Given the description of an element on the screen output the (x, y) to click on. 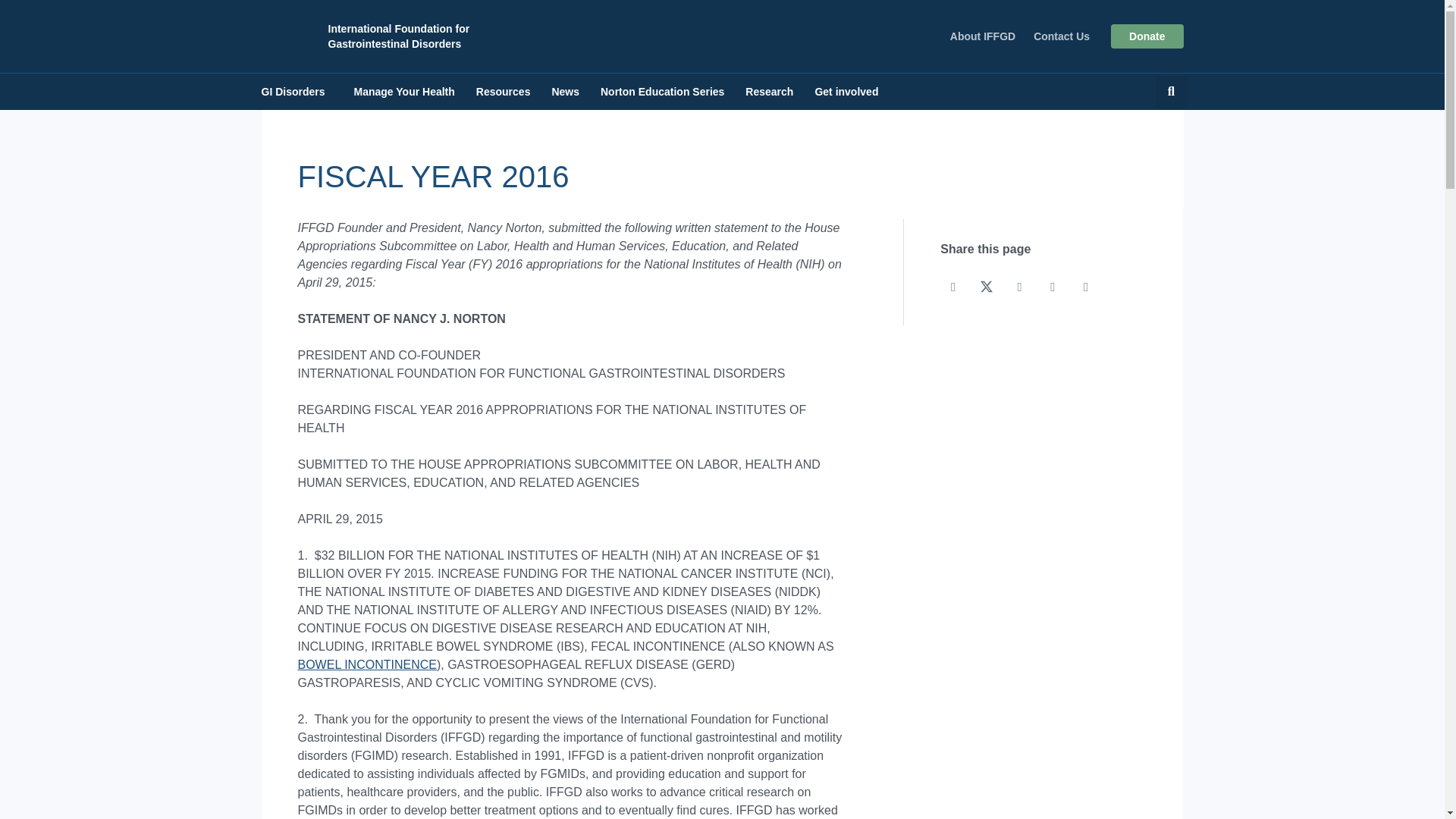
Donate (1146, 36)
GI Disorders (292, 91)
Contact Us (1061, 35)
About IFFGD (982, 35)
